Given the description of an element on the screen output the (x, y) to click on. 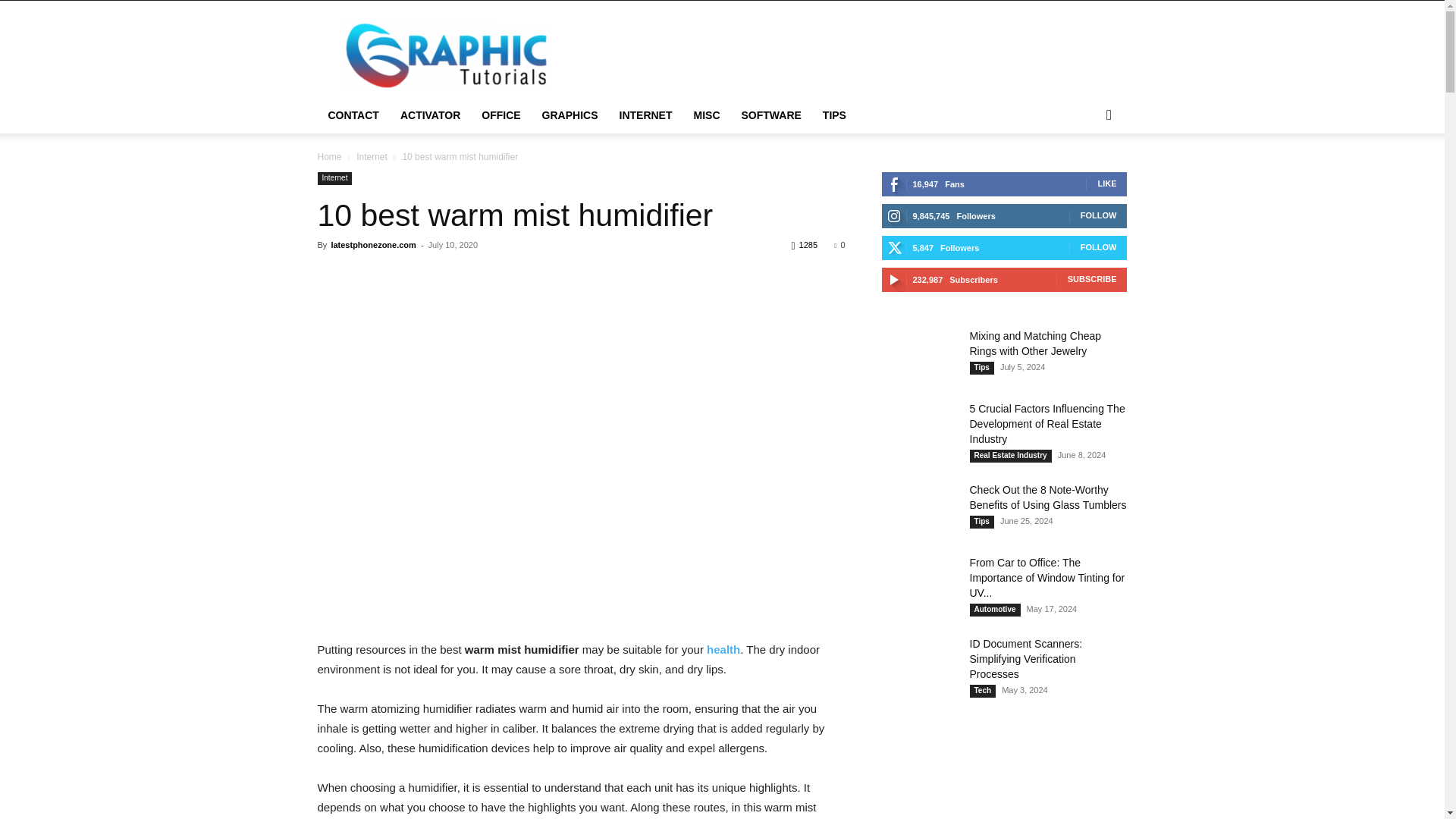
TIPS (834, 115)
Home (328, 156)
CONTACT (352, 115)
INTERNET (645, 115)
GRAPHICS (569, 115)
Search (1085, 175)
MISC (706, 115)
OFFICE (500, 115)
View all posts in Internet (371, 156)
SOFTWARE (771, 115)
Internet (371, 156)
ACTIVATOR (430, 115)
